Given the description of an element on the screen output the (x, y) to click on. 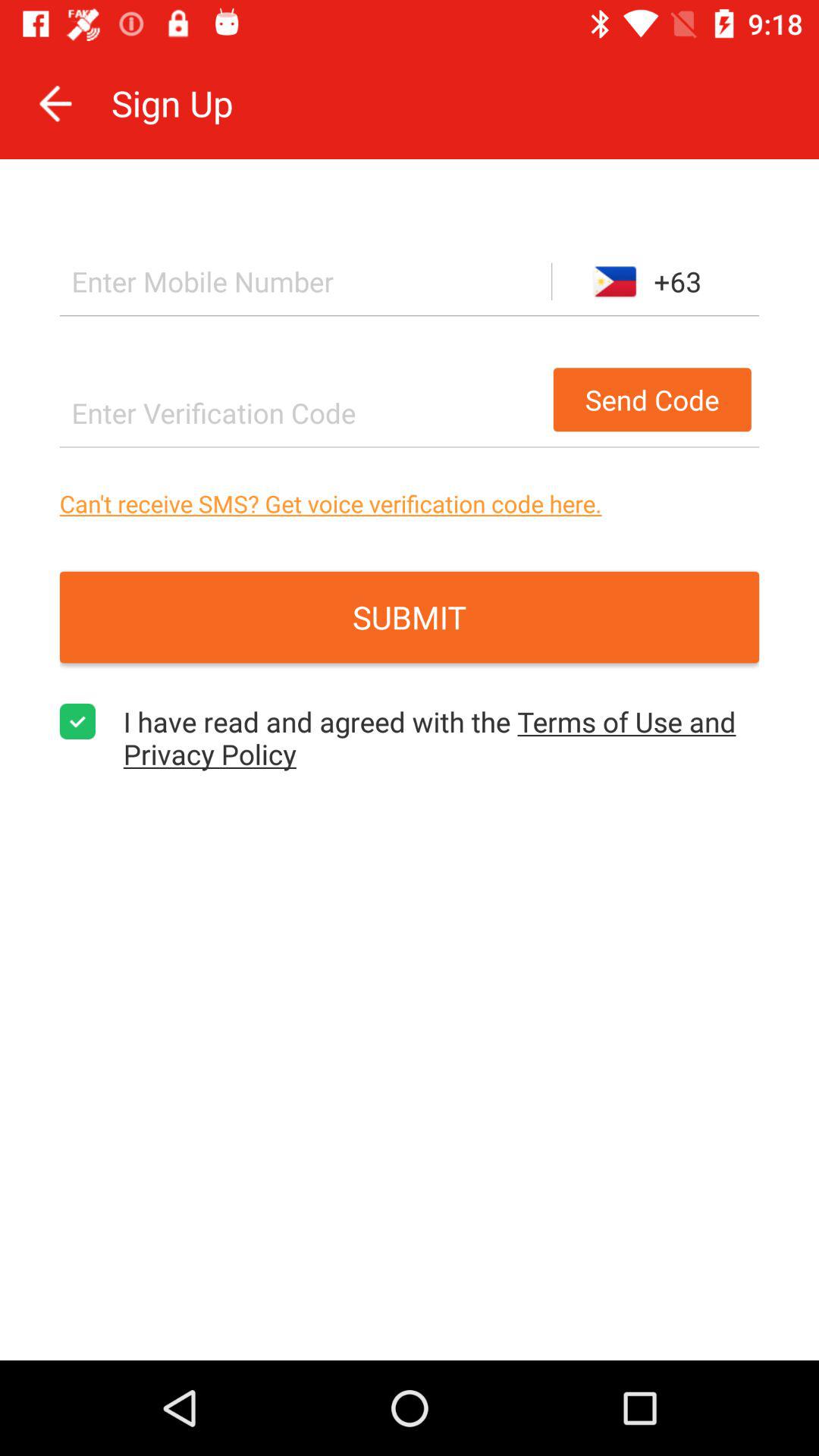
accept terms and policy (77, 721)
